Given the description of an element on the screen output the (x, y) to click on. 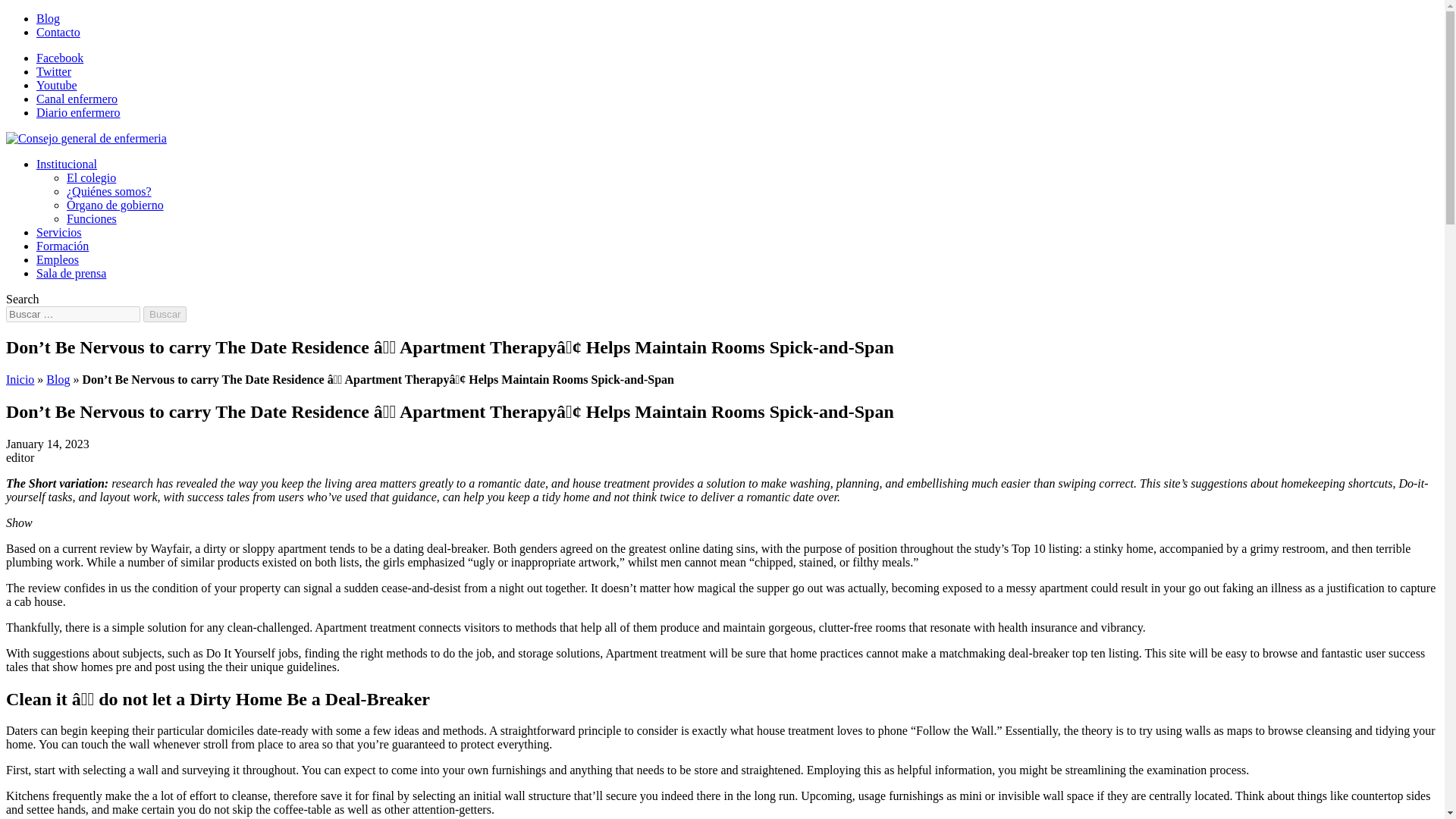
Servicios (58, 232)
Youtube (56, 84)
Blog (47, 18)
Canal enfermero (76, 98)
Funciones (91, 218)
Canal enfermero (76, 98)
Twitter (53, 71)
Diario enfermero (78, 112)
Empleos (57, 259)
Facebook (59, 57)
Youtube (56, 84)
El colegio (91, 177)
Buscar (164, 314)
Contacto (58, 31)
Buscar (164, 314)
